Given the description of an element on the screen output the (x, y) to click on. 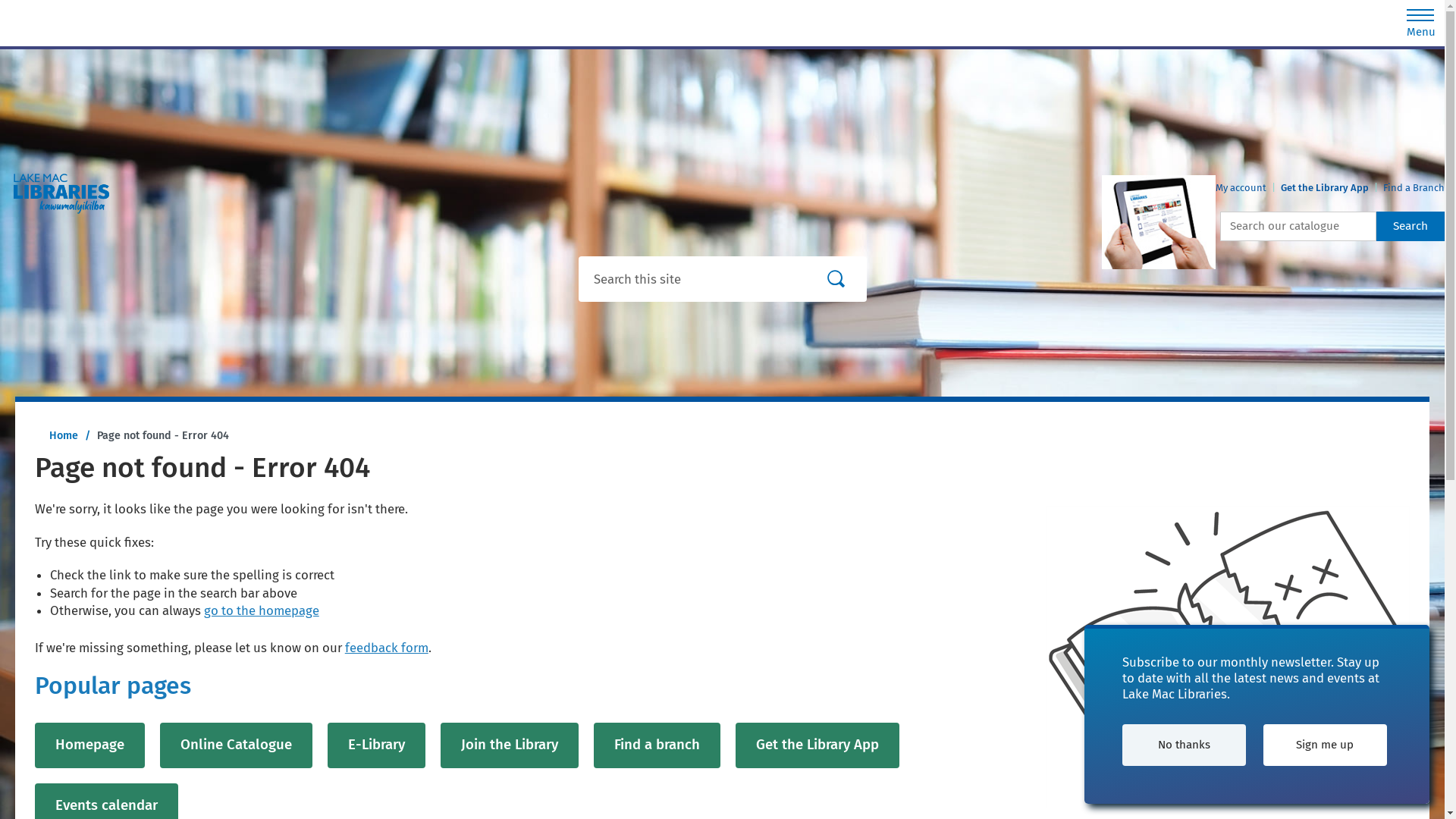
Get the Library App Element type: text (1324, 187)
Search Element type: text (835, 278)
Get the Library App Element type: text (817, 745)
Find a branch Element type: text (656, 745)
Find a Branch Element type: text (1413, 187)
Join the Library Element type: text (509, 745)
Search Element type: text (1410, 226)
Home Element type: text (63, 435)
feedback form Element type: text (386, 647)
My account Element type: text (1240, 187)
No thanks Element type: text (1183, 744)
go to the homepage Element type: text (261, 610)
Home - Lake Mac Libraries - Logo Element type: text (66, 212)
Homepage Element type: text (89, 745)
Search Keywords Element type: hover (1298, 226)
Online Catalogue Element type: text (236, 745)
Menu Element type: text (1420, 17)
E-Library Element type: text (376, 745)
Sign me up Element type: text (1324, 744)
